Given the description of an element on the screen output the (x, y) to click on. 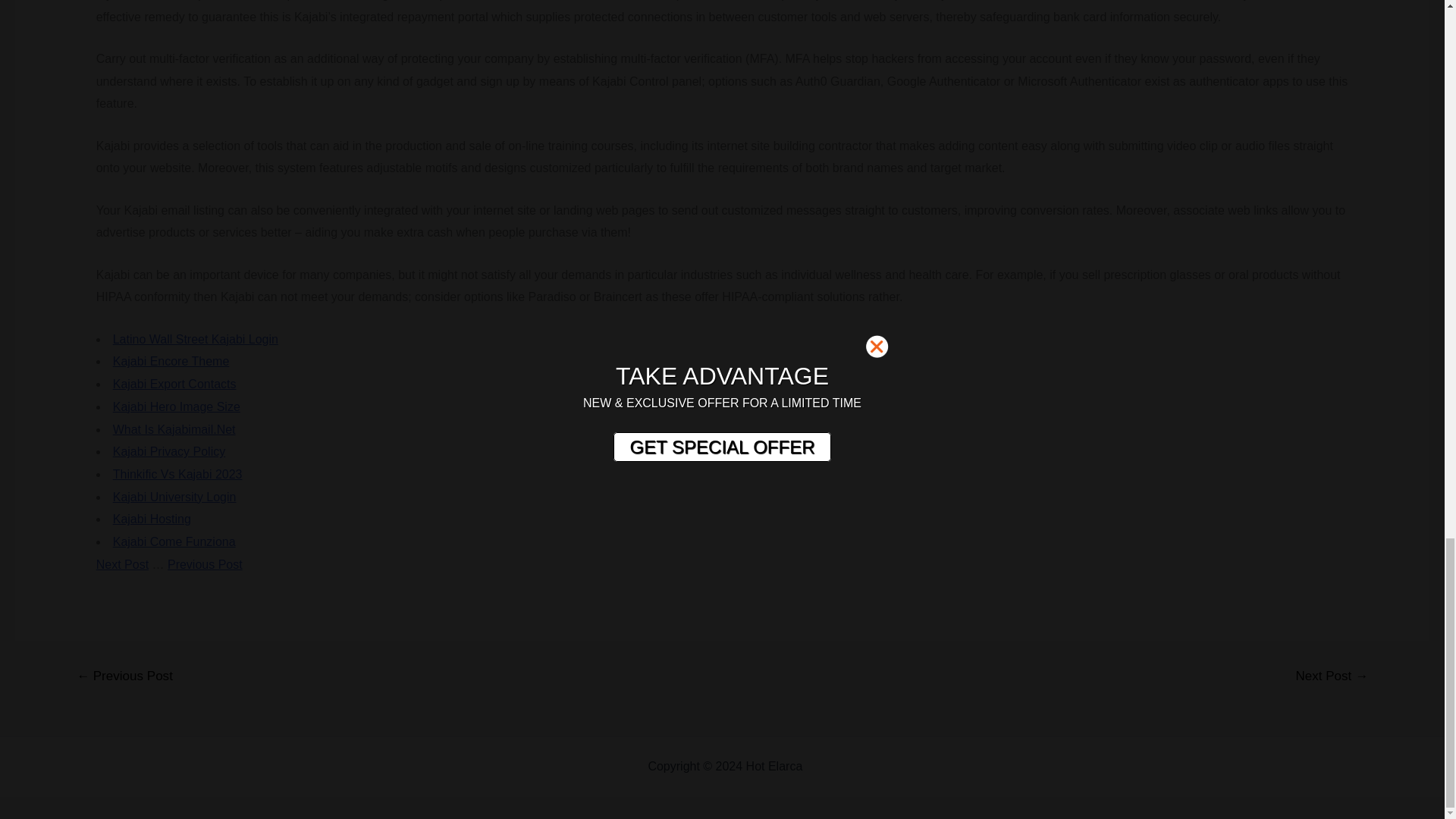
Next Post (122, 563)
Kajabi Privacy Policy (169, 451)
Previous Post (205, 563)
Kajabi Hosting (151, 518)
Kajabi Export Contacts (174, 383)
Thinkific Vs Kajabi 2023 (178, 473)
Kajabi Come Funziona (174, 541)
Kajabi Encore Theme (171, 360)
Latino Wall Street Kajabi Login (195, 338)
Kajabi University Login (174, 496)
Kajabi Hero Image Size (176, 406)
Latino Wall Street Kajabi Login (195, 338)
Kajabi Encore Theme (171, 360)
Kajabi Export Contacts (174, 383)
Kajabi Hero Image Size (176, 406)
